Given the description of an element on the screen output the (x, y) to click on. 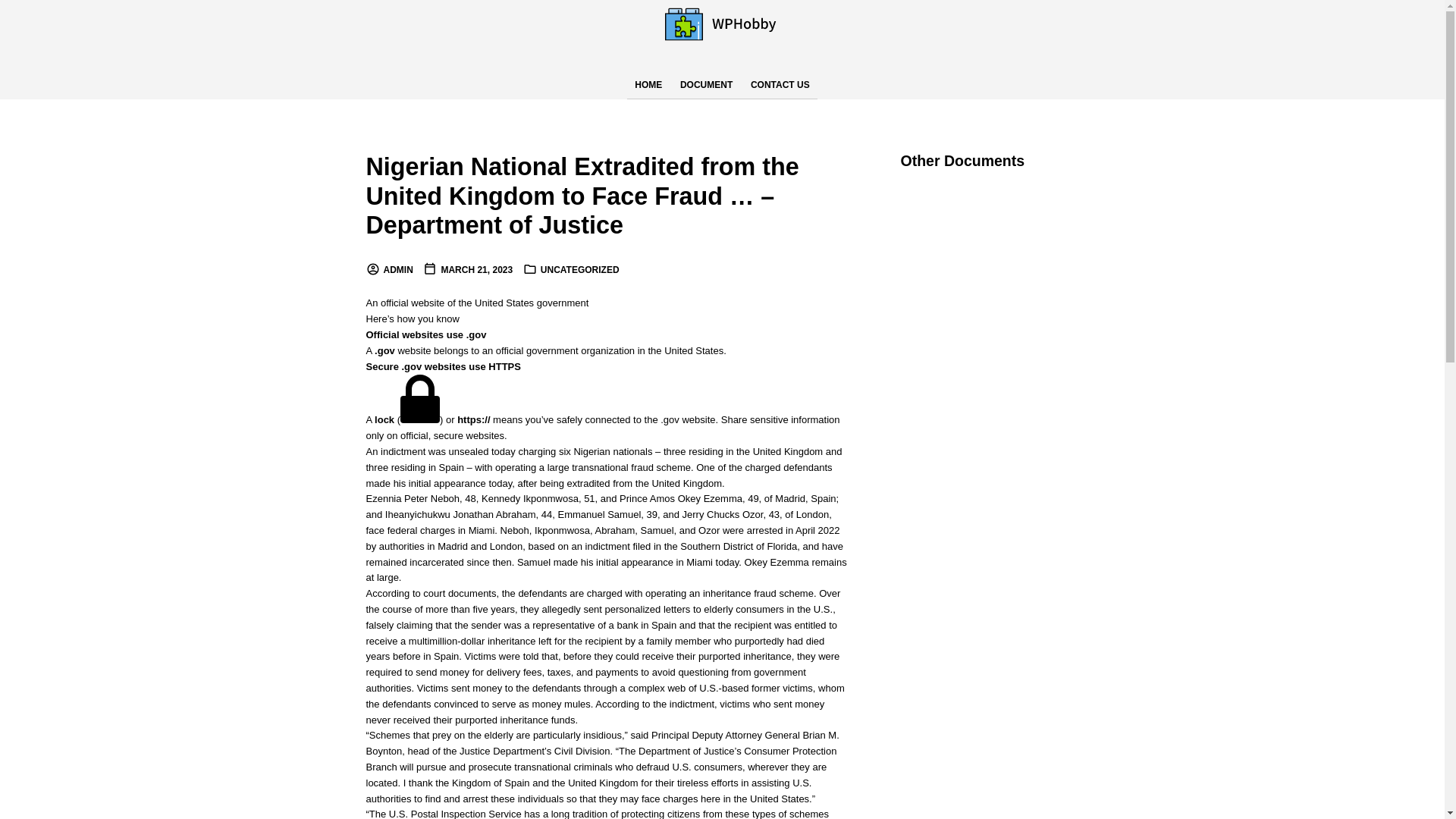
UNCATEGORIZED (580, 269)
DOCUMENT (705, 85)
CONTACT US (779, 85)
MARCH 21, 2023 (467, 269)
12:57 am (467, 269)
View all posts by admin (388, 269)
ADMIN (388, 269)
HOME (648, 85)
